Given the description of an element on the screen output the (x, y) to click on. 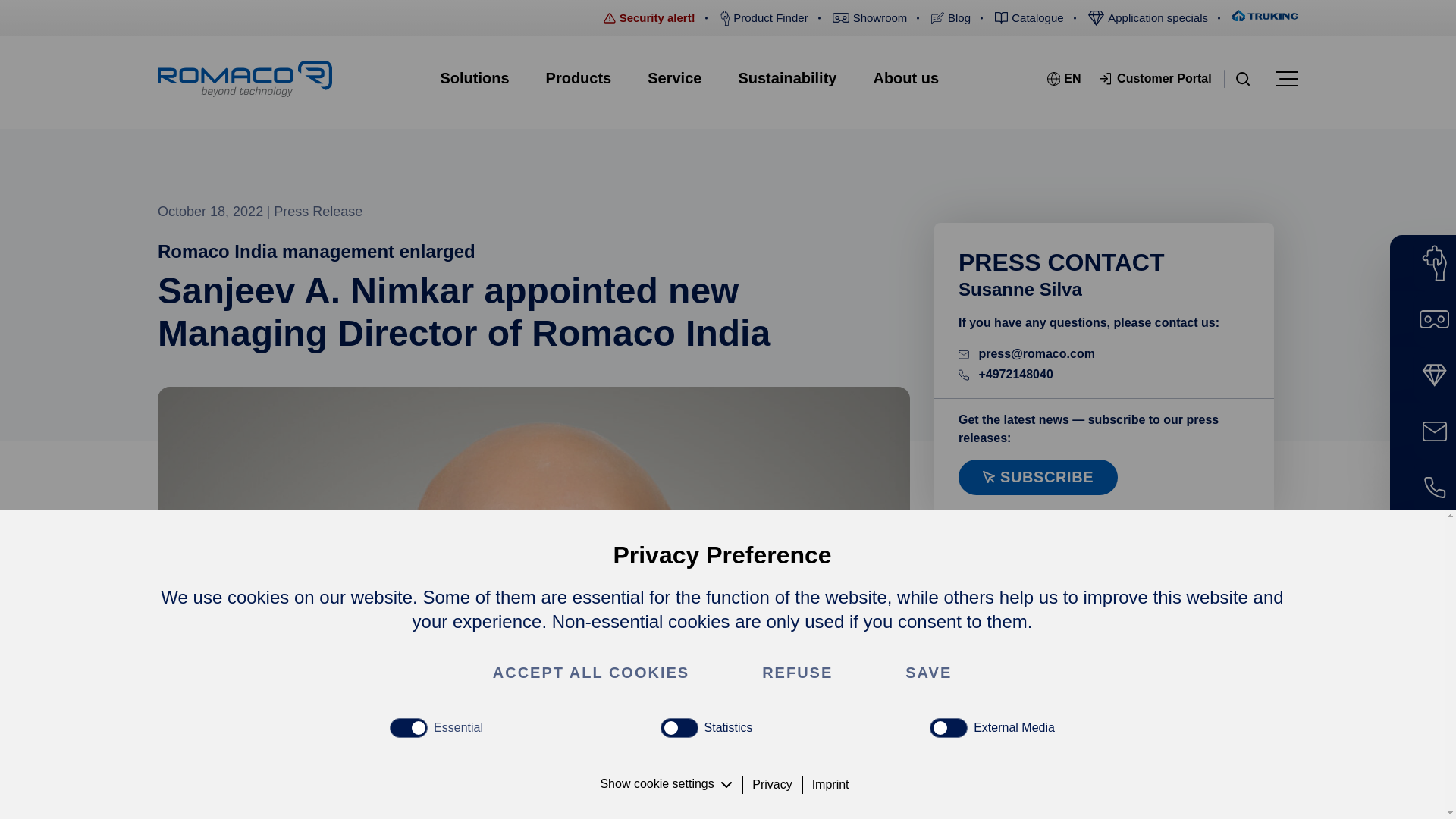
ACCEPT ALL COOKIES (590, 673)
Link: Imprint (830, 784)
Customer Portal (1155, 78)
REFUSE (797, 673)
Blog (950, 18)
Imprint (830, 784)
Sustainability (786, 77)
Security alert! (649, 17)
Privacy (772, 784)
Save (927, 673)
Show cookie settings (668, 783)
Showroom (870, 17)
Solutions (474, 77)
Service (673, 77)
Refuse (797, 673)
